Given the description of an element on the screen output the (x, y) to click on. 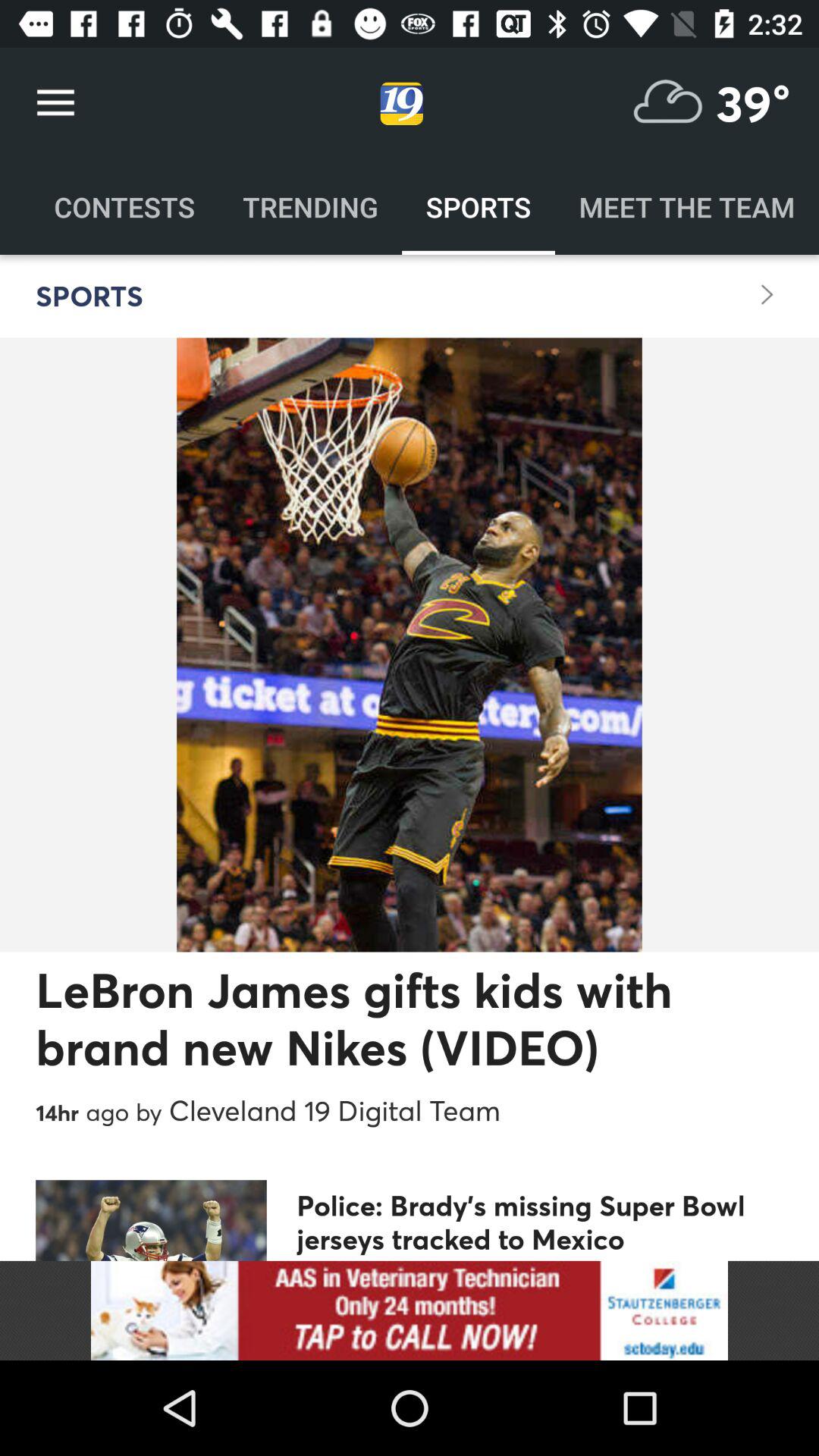
check the weather (668, 103)
